Given the description of an element on the screen output the (x, y) to click on. 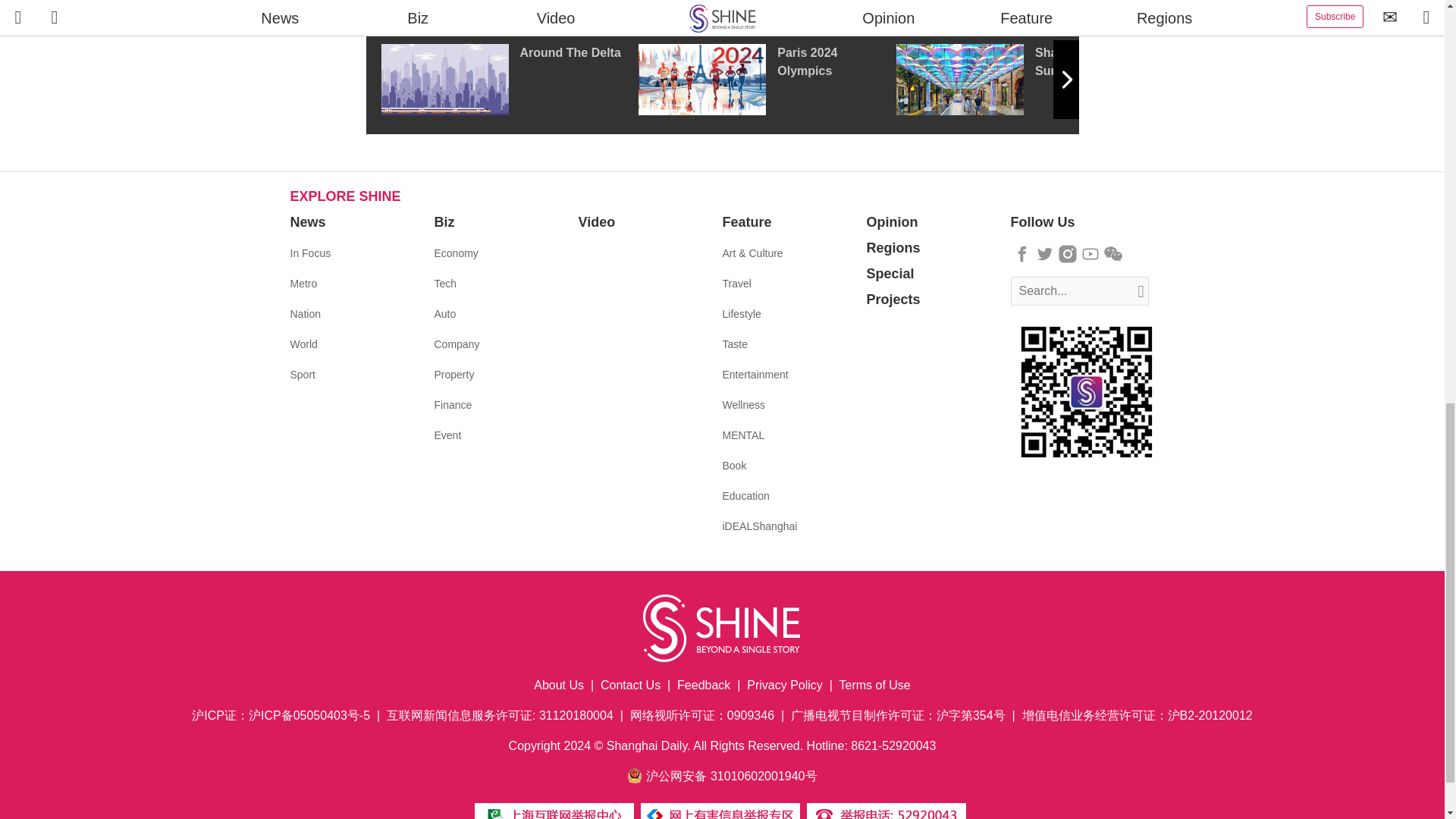
Follow us on Wechat (1112, 253)
Special Reports (721, 8)
Follow us on Twitter (1044, 253)
Follow us on Instagram (1067, 253)
Paris 2024 Olympics (767, 79)
Follow us on Facebook (1021, 253)
Shanghai Summer (1024, 79)
Follow us on Youtube (1090, 253)
News (306, 222)
Around The Delta (508, 79)
